Given the description of an element on the screen output the (x, y) to click on. 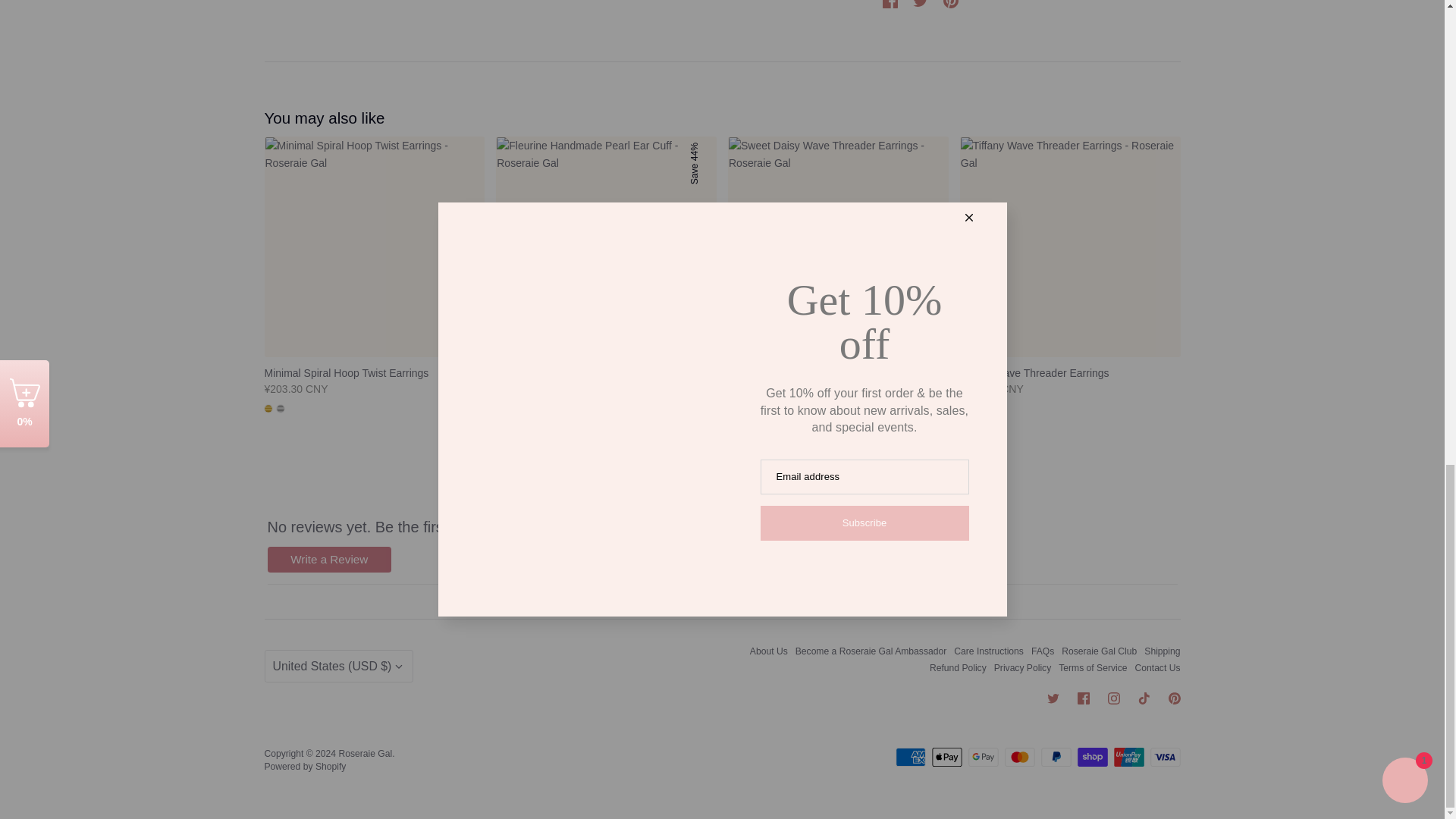
Apple Pay (946, 756)
American Express (910, 756)
Google Pay (983, 756)
PayPal (1056, 756)
Mastercard (1019, 756)
